Given the description of an element on the screen output the (x, y) to click on. 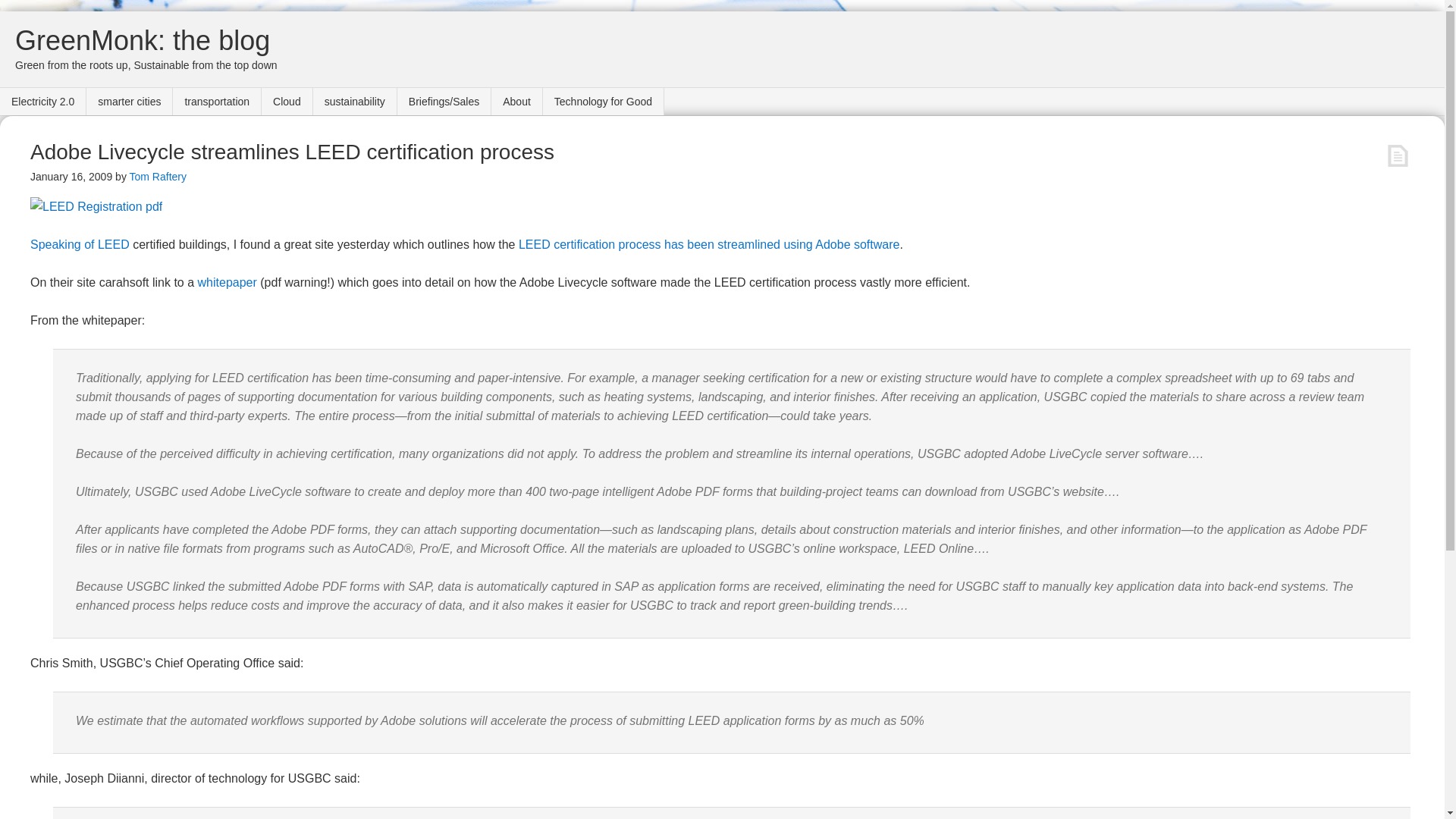
Adobe Livecycle streamlines LEED certification process (292, 151)
LEED Registration pdf by Tom Raftery, on Flickr (95, 205)
Technology for Good (603, 101)
Speaking of LEED (79, 244)
whitepaper (227, 282)
sustainability (355, 101)
Electricity 2.0 (42, 101)
GreenMonk: the blog (141, 40)
Tom Raftery (157, 176)
Adobe Livecycle streamlines LEED certification process (292, 151)
